Given the description of an element on the screen output the (x, y) to click on. 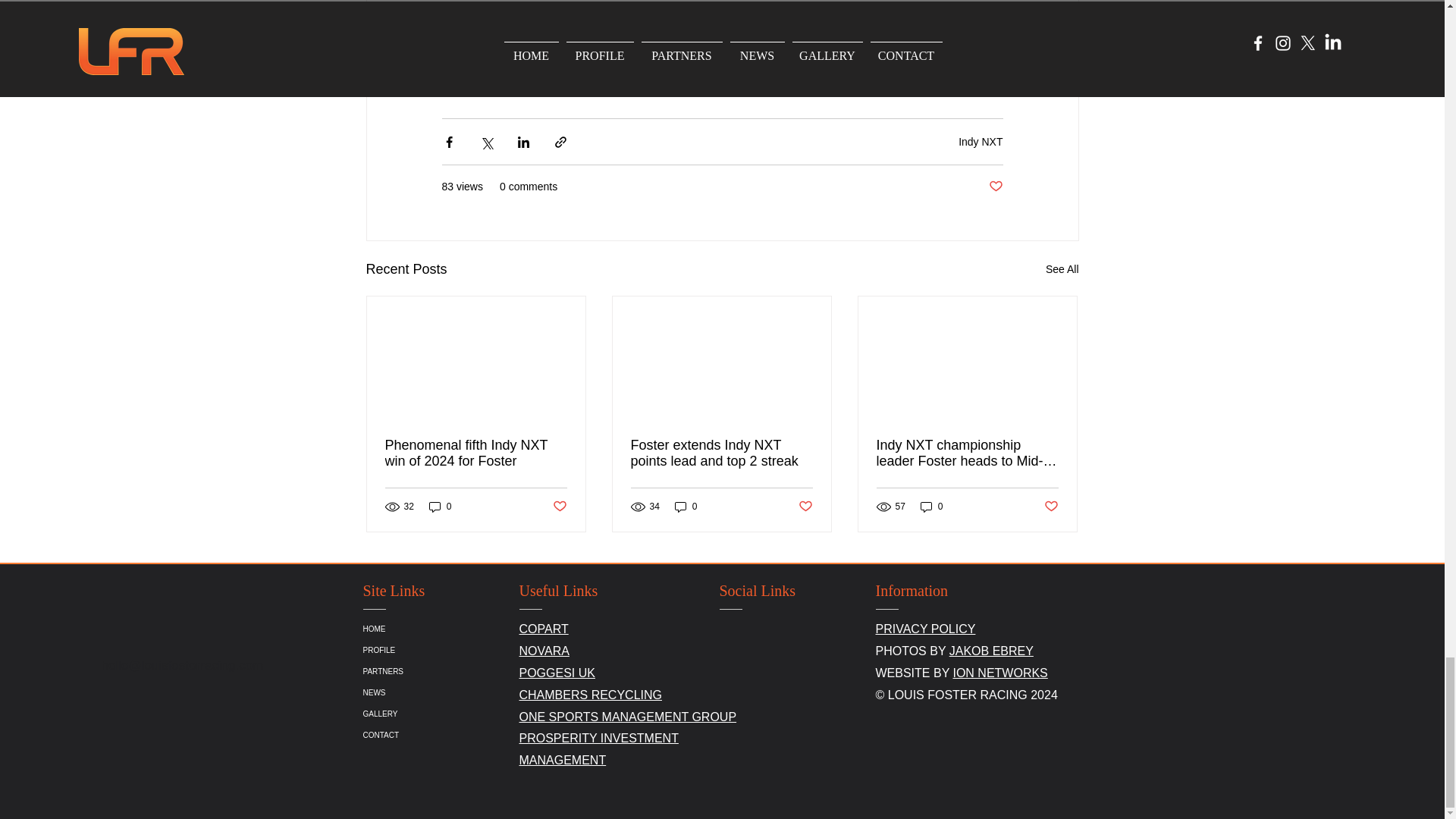
PARTNERS (447, 671)
0 (685, 506)
Post not marked as liked (804, 506)
Post not marked as liked (995, 186)
Foster extends Indy NXT points lead and top 2 streak (721, 453)
0 (931, 506)
CONTACT (447, 735)
Post not marked as liked (1050, 506)
Indy NXT championship leader Foster heads to Mid-Ohio (967, 453)
Post not marked as liked (558, 506)
HOME (447, 629)
Indy NXT (980, 141)
See All (1061, 269)
GALLERY (447, 713)
0 (440, 506)
